Given the description of an element on the screen output the (x, y) to click on. 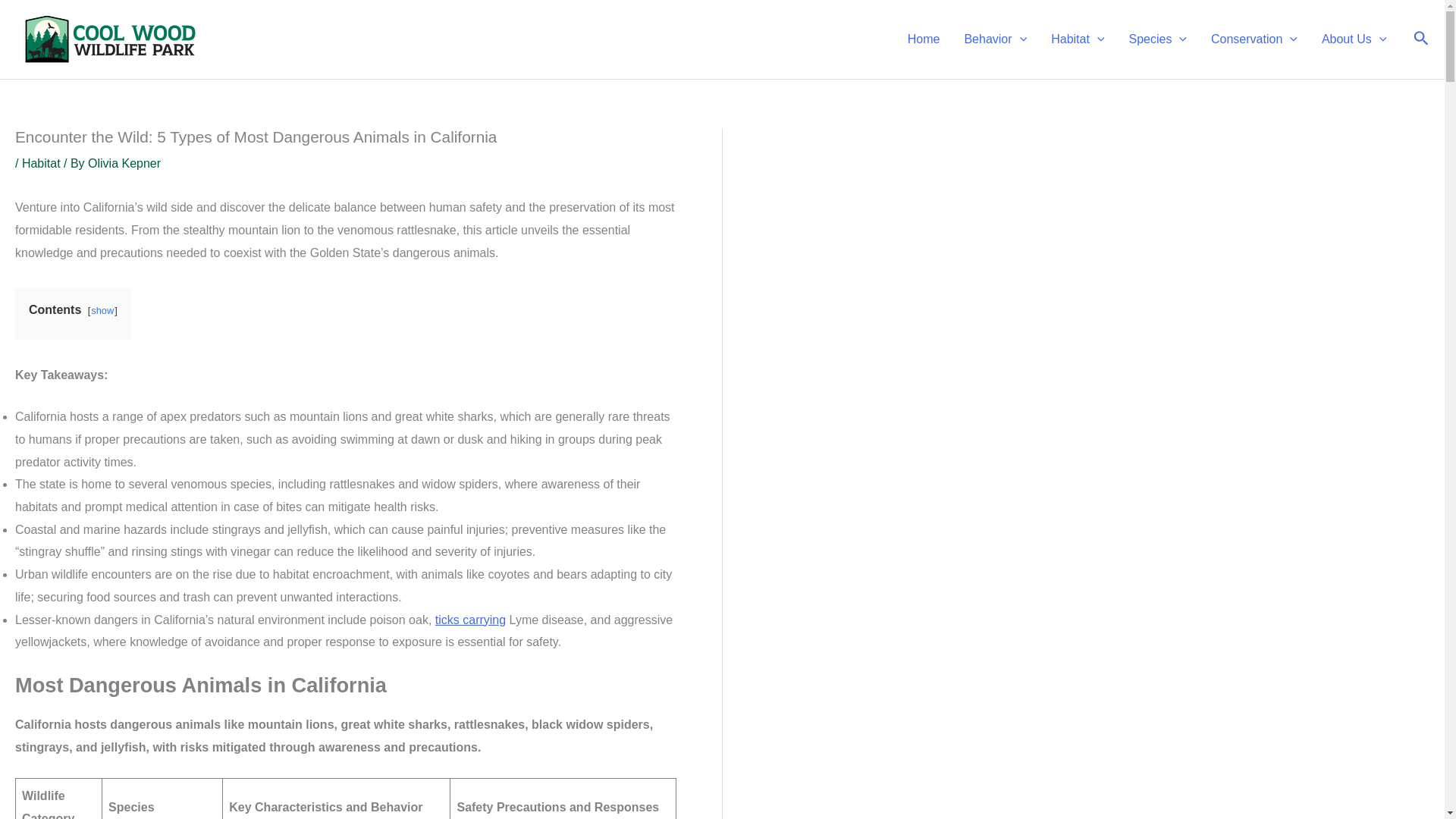
Behavior (995, 39)
Home (923, 39)
Habitat (1077, 39)
View all posts by Olivia Kepner (123, 163)
Species (1157, 39)
